Given the description of an element on the screen output the (x, y) to click on. 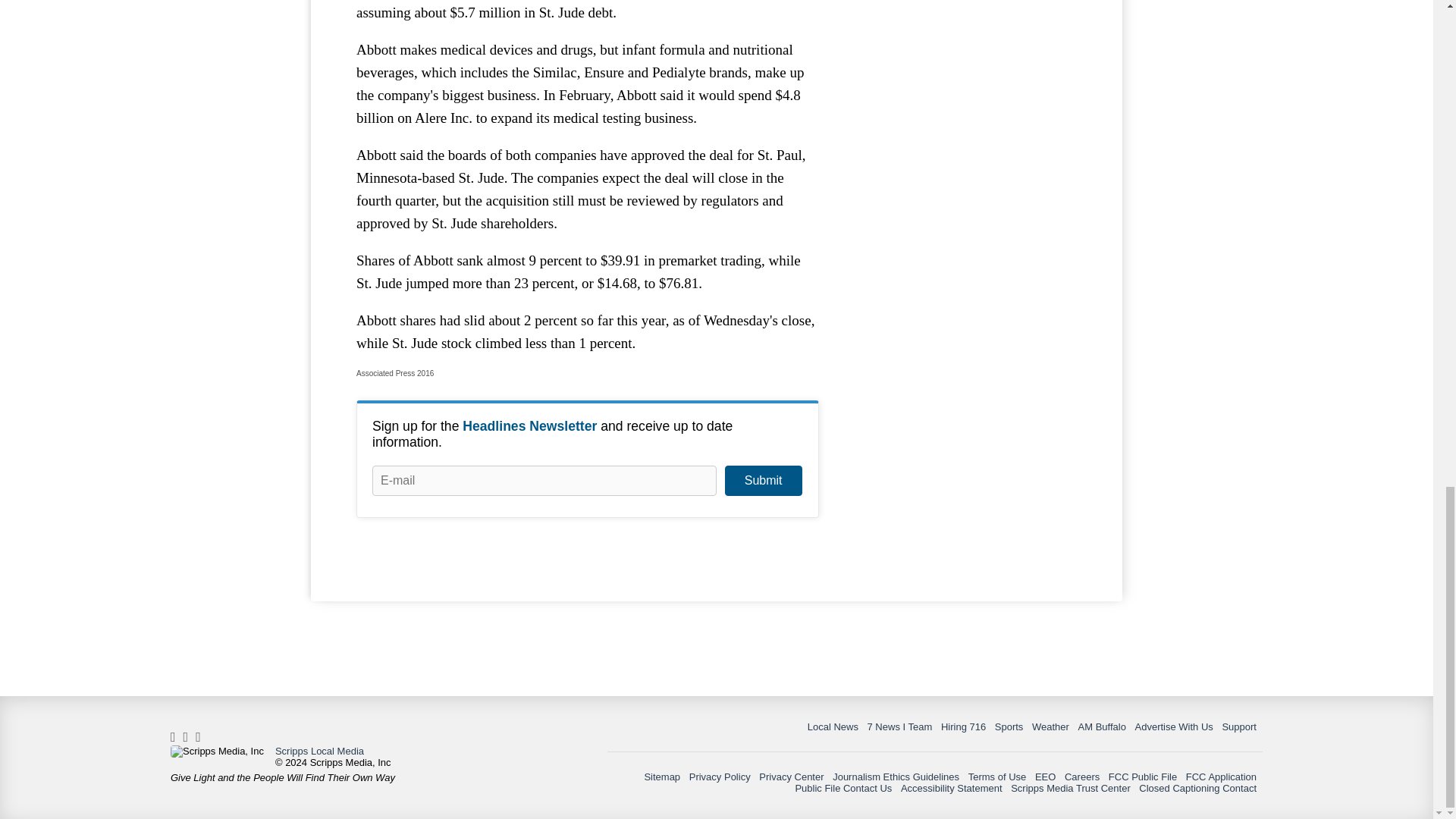
Submit (763, 481)
